Given the description of an element on the screen output the (x, y) to click on. 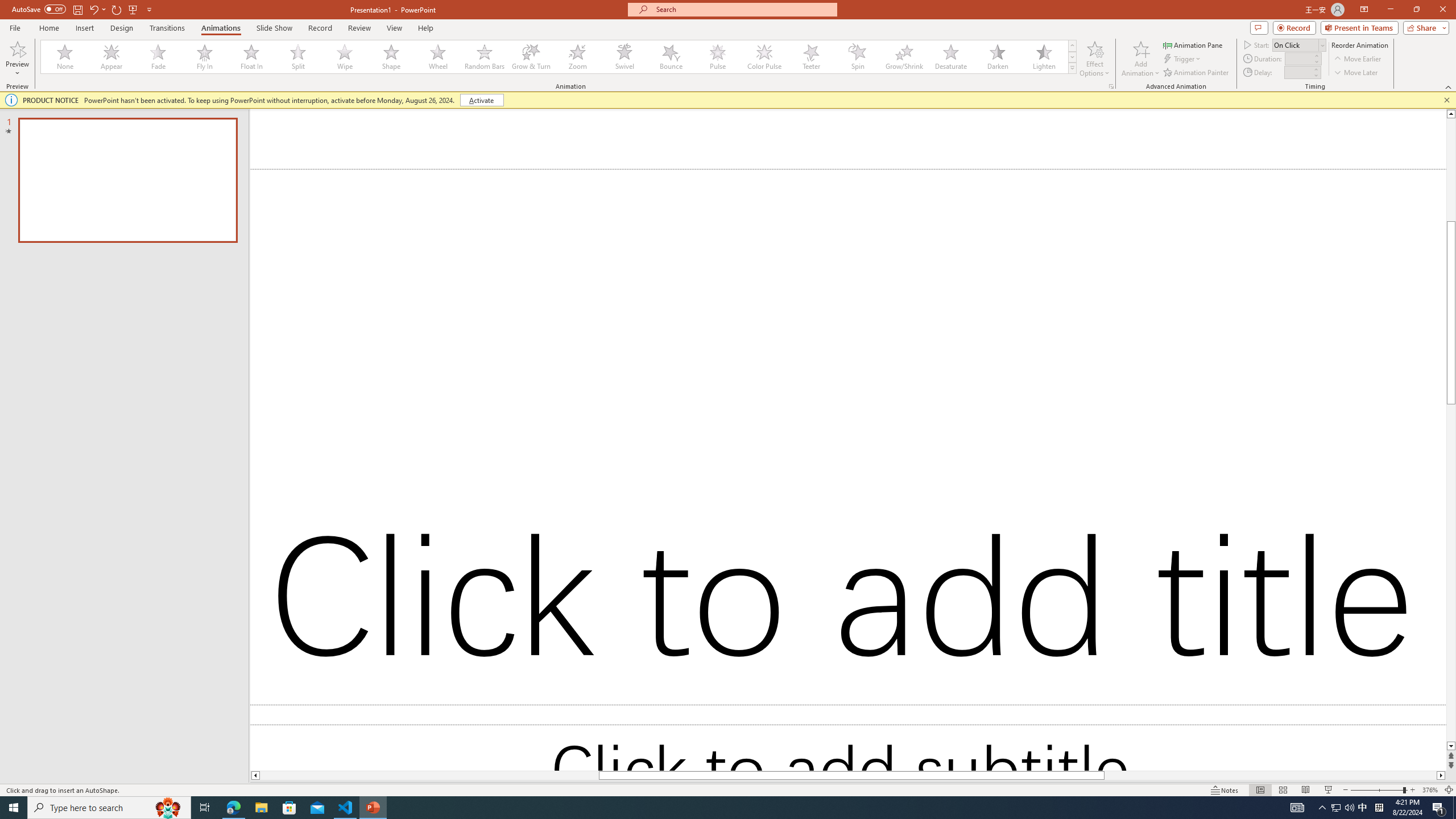
Trigger (1182, 58)
Close this message (1446, 99)
Lighten (1043, 56)
More Options... (1110, 85)
